Given the description of an element on the screen output the (x, y) to click on. 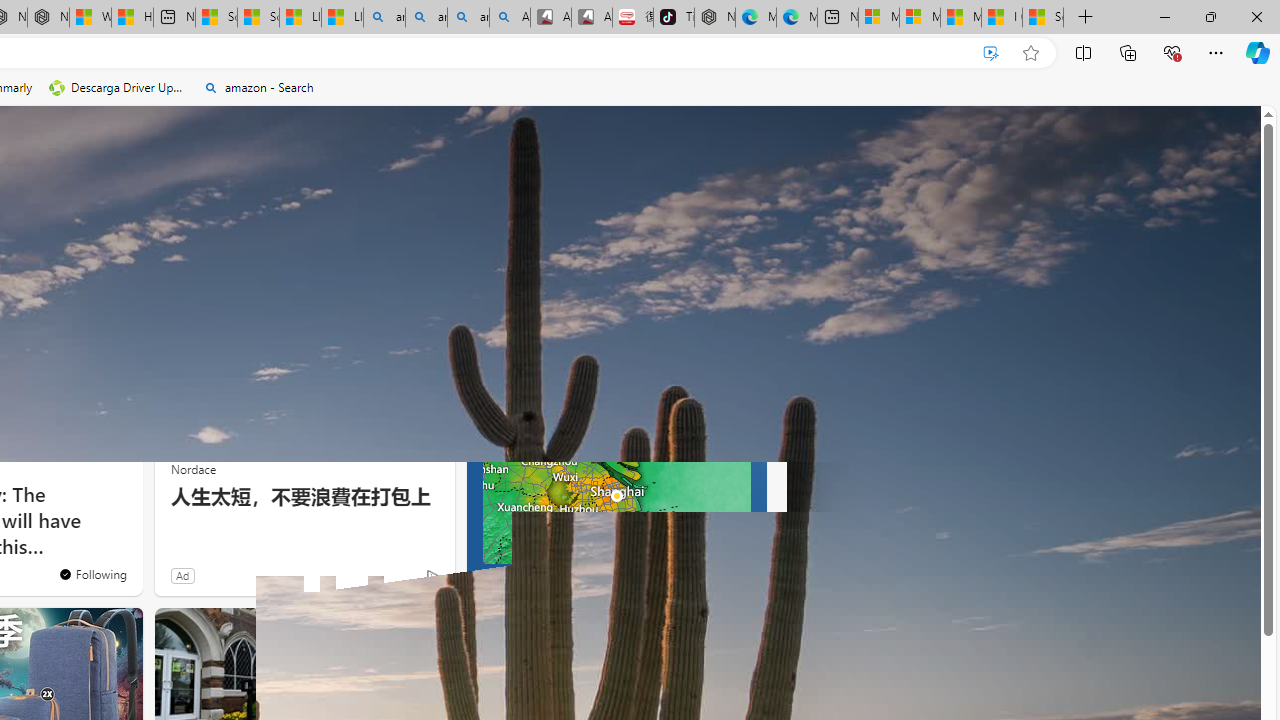
amazon - Search (425, 17)
All Cubot phones (591, 17)
My location (555, 315)
Enhance video (991, 53)
Restore (1210, 16)
Hotels in Bangkok (563, 631)
Partly sunny (504, 368)
aqi-icon (690, 359)
Amazon Echo Robot - Search Images (509, 17)
Daily (571, 411)
Class: icon-img (736, 632)
tab-1 (500, 579)
